Given the description of an element on the screen output the (x, y) to click on. 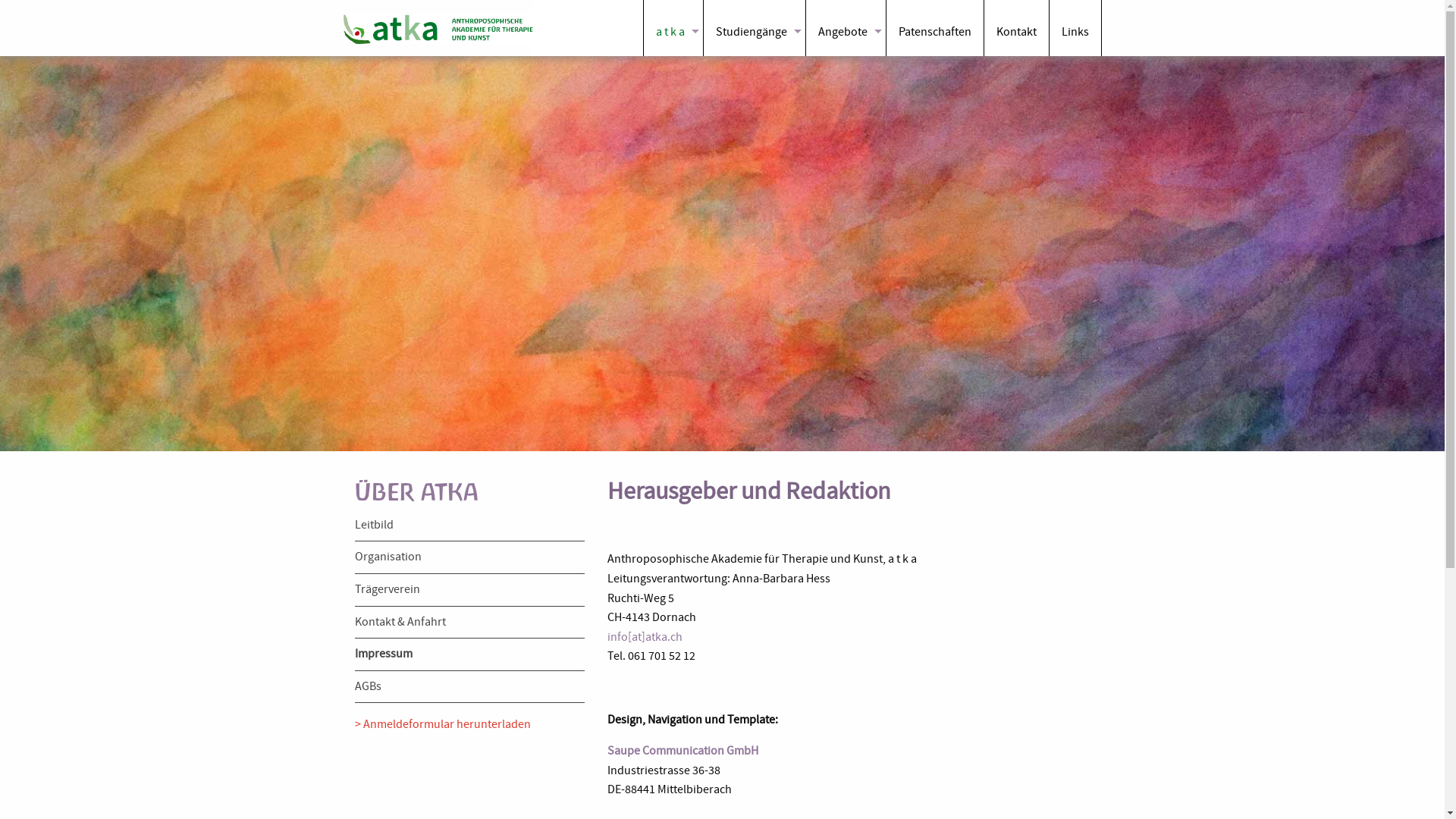
a t k a Element type: text (672, 28)
> Anmeldeformular herunterladen Element type: text (442, 723)
Kontakt & Anfahrt Element type: text (399, 621)
Angebote Element type: text (844, 28)
Leitbild Element type: text (373, 524)
Organisation Element type: text (387, 556)
Kontakt Element type: text (1016, 28)
Impressum Element type: text (383, 653)
Patenschaften Element type: text (933, 28)
Links Element type: text (1075, 28)
info[at]atka.ch Element type: text (644, 636)
Saupe Communication GmbH Element type: text (682, 750)
AGBs Element type: text (367, 685)
Skip to content Element type: text (0, 56)
